Given the description of an element on the screen output the (x, y) to click on. 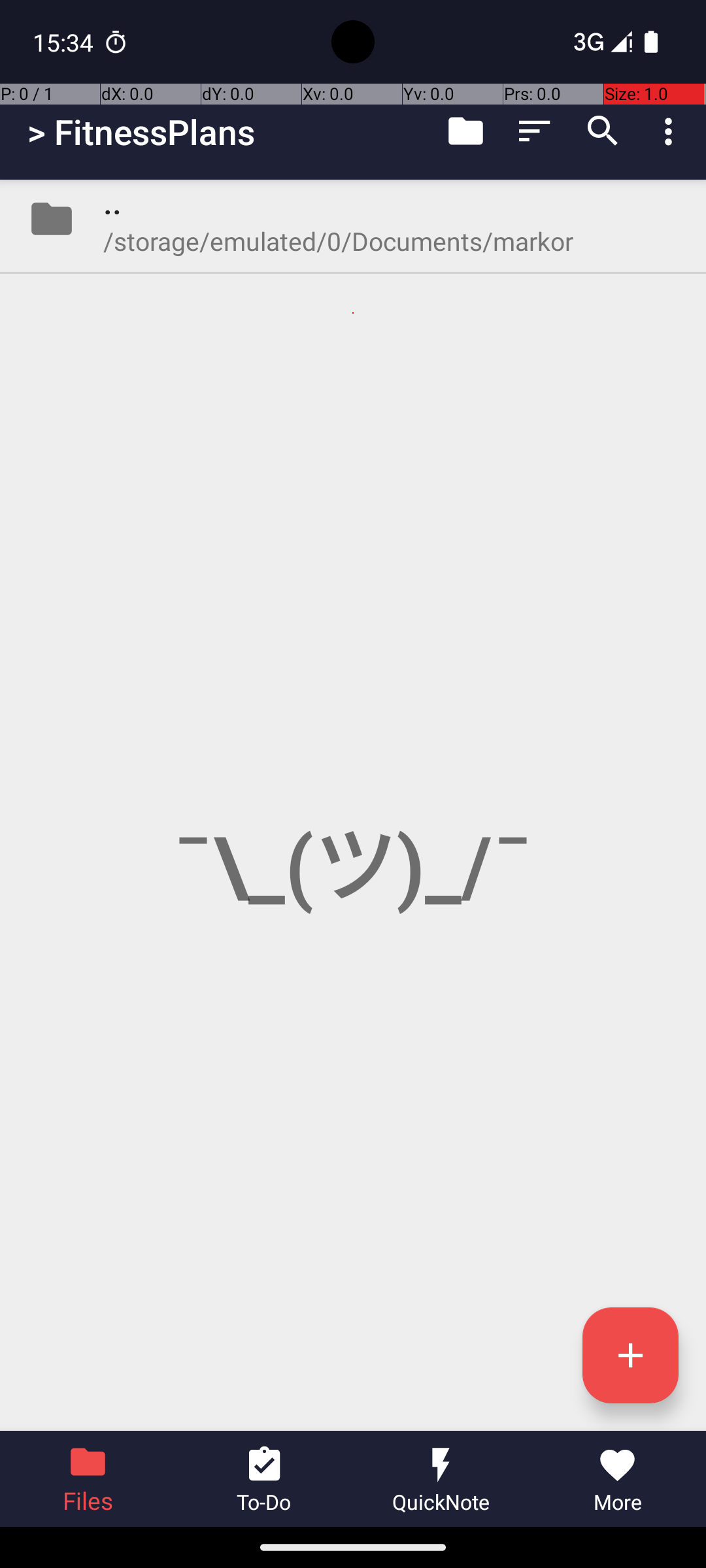
> FitnessPlans Element type: android.widget.TextView (140, 131)
